Given the description of an element on the screen output the (x, y) to click on. 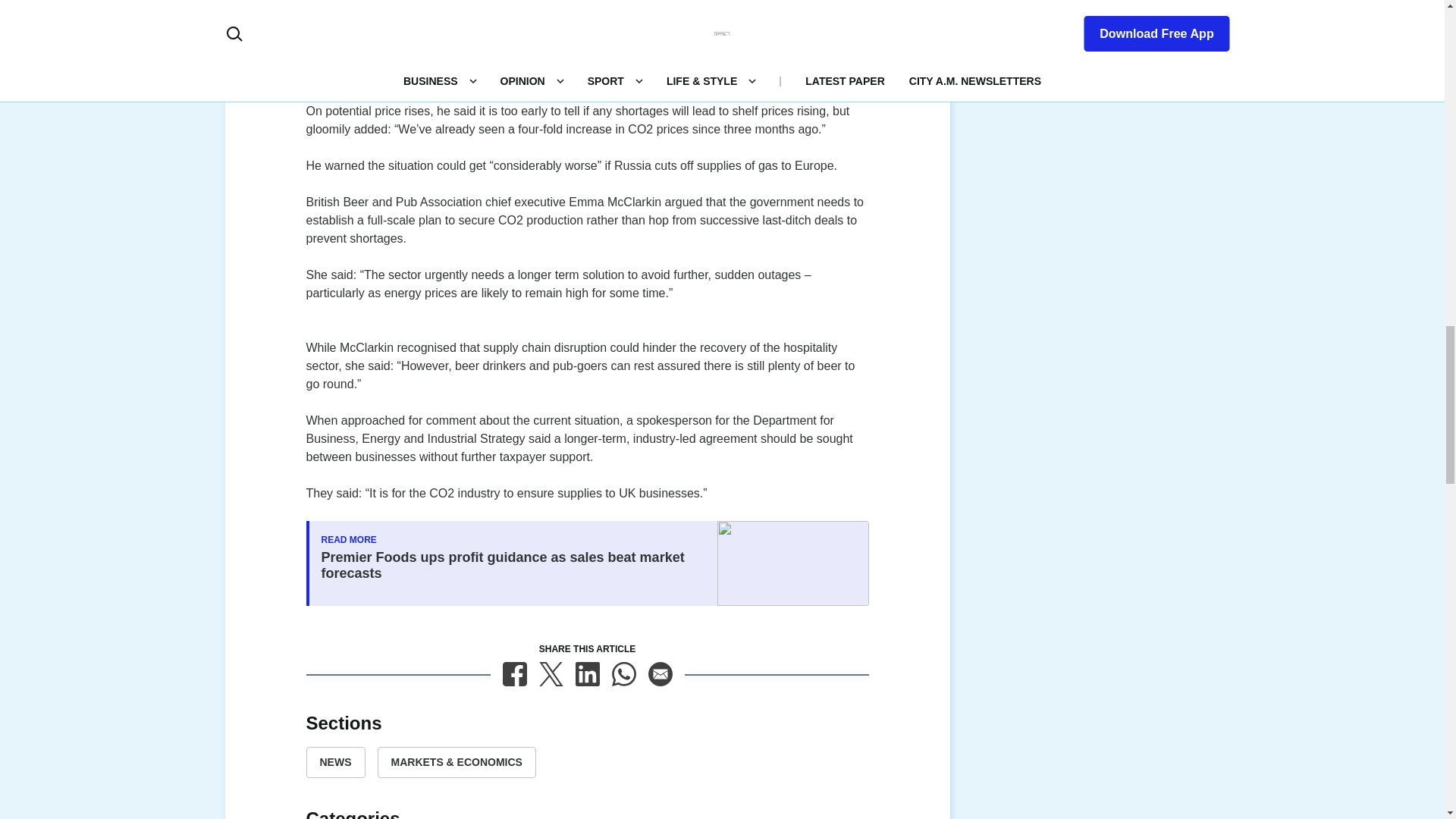
Facebook (513, 673)
LinkedIn (586, 673)
WhatsApp (622, 673)
Email (659, 673)
X (550, 673)
